Given the description of an element on the screen output the (x, y) to click on. 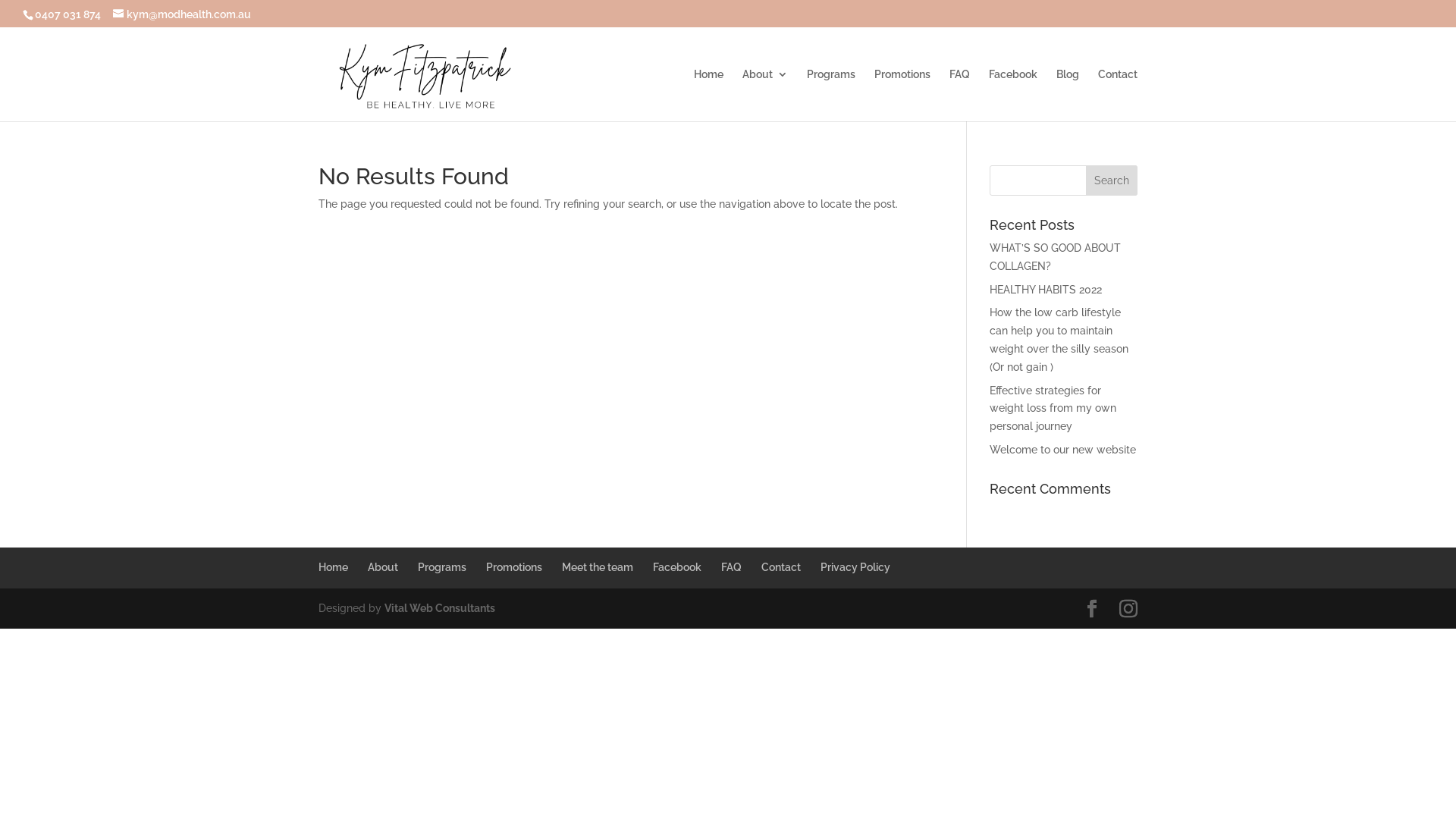
Programs Element type: text (441, 567)
Home Element type: text (333, 567)
HEALTHY HABITS 2022 Element type: text (1045, 289)
FAQ Element type: text (959, 95)
Home Element type: text (708, 95)
Contact Element type: text (1117, 95)
Privacy Policy Element type: text (855, 567)
Vital Web Consultants Element type: text (439, 608)
Facebook Element type: text (1012, 95)
Blog Element type: text (1067, 95)
About Element type: text (764, 95)
Facebook Element type: text (676, 567)
Contact Element type: text (780, 567)
Meet the team Element type: text (597, 567)
Search Element type: text (1111, 180)
FAQ Element type: text (731, 567)
About Element type: text (382, 567)
Welcome to our new website Element type: text (1062, 449)
kym@modhealth.com.au Element type: text (181, 13)
Promotions Element type: text (514, 567)
Programs Element type: text (830, 95)
Promotions Element type: text (902, 95)
